Given the description of an element on the screen output the (x, y) to click on. 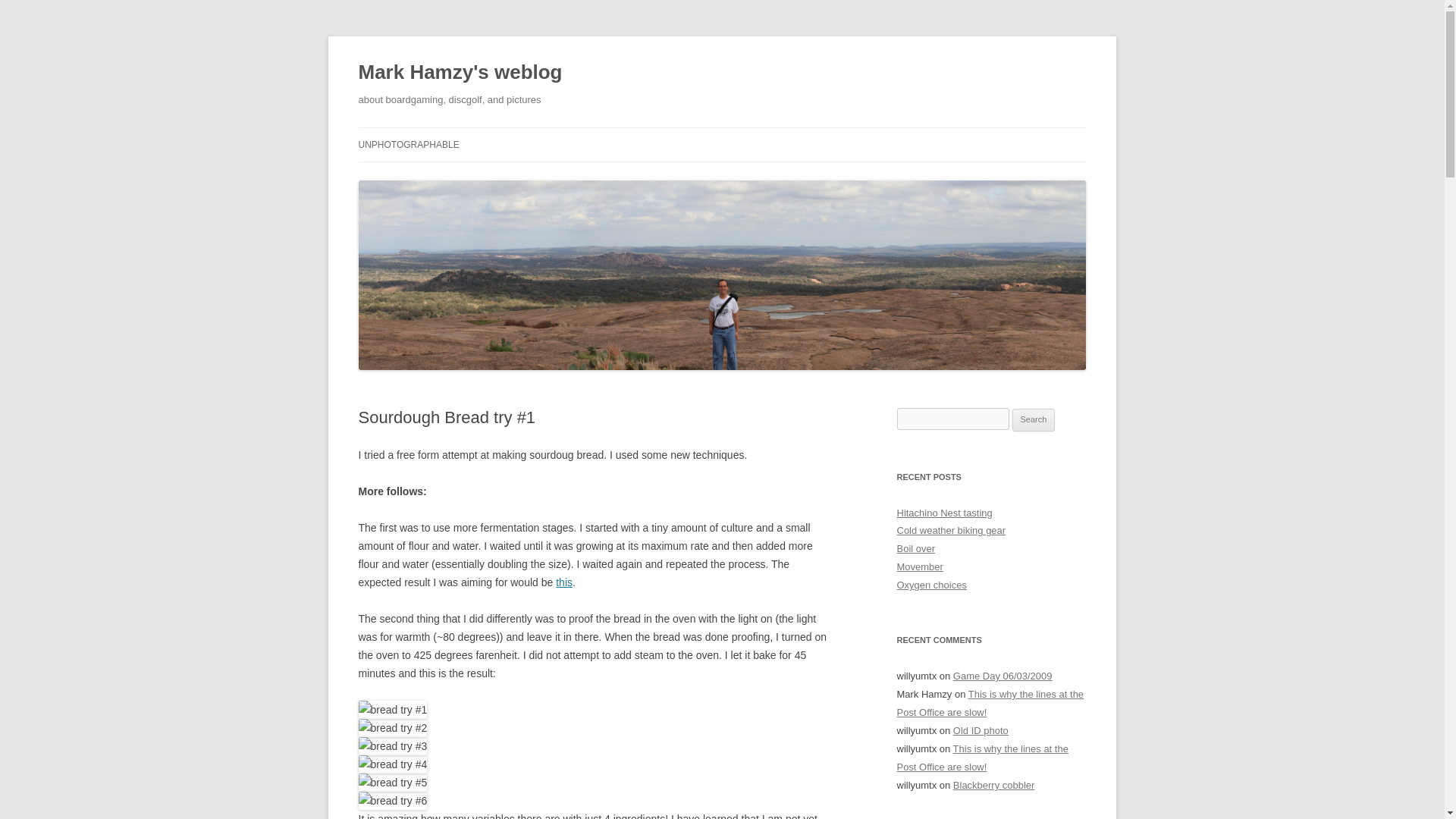
UNPHOTOGRAPHABLE (408, 144)
This is why the lines at the Post Office are slow! (989, 703)
Old ID photo (981, 730)
Boil over (915, 548)
Search (1033, 419)
Movember (919, 566)
Mark Hamzy's weblog (460, 72)
This is why the lines at the Post Office are slow! (981, 757)
Hitachino Nest tasting (943, 511)
Search (1033, 419)
Oxygen choices (931, 584)
Cold weather biking gear (951, 530)
this (564, 582)
